Given the description of an element on the screen output the (x, y) to click on. 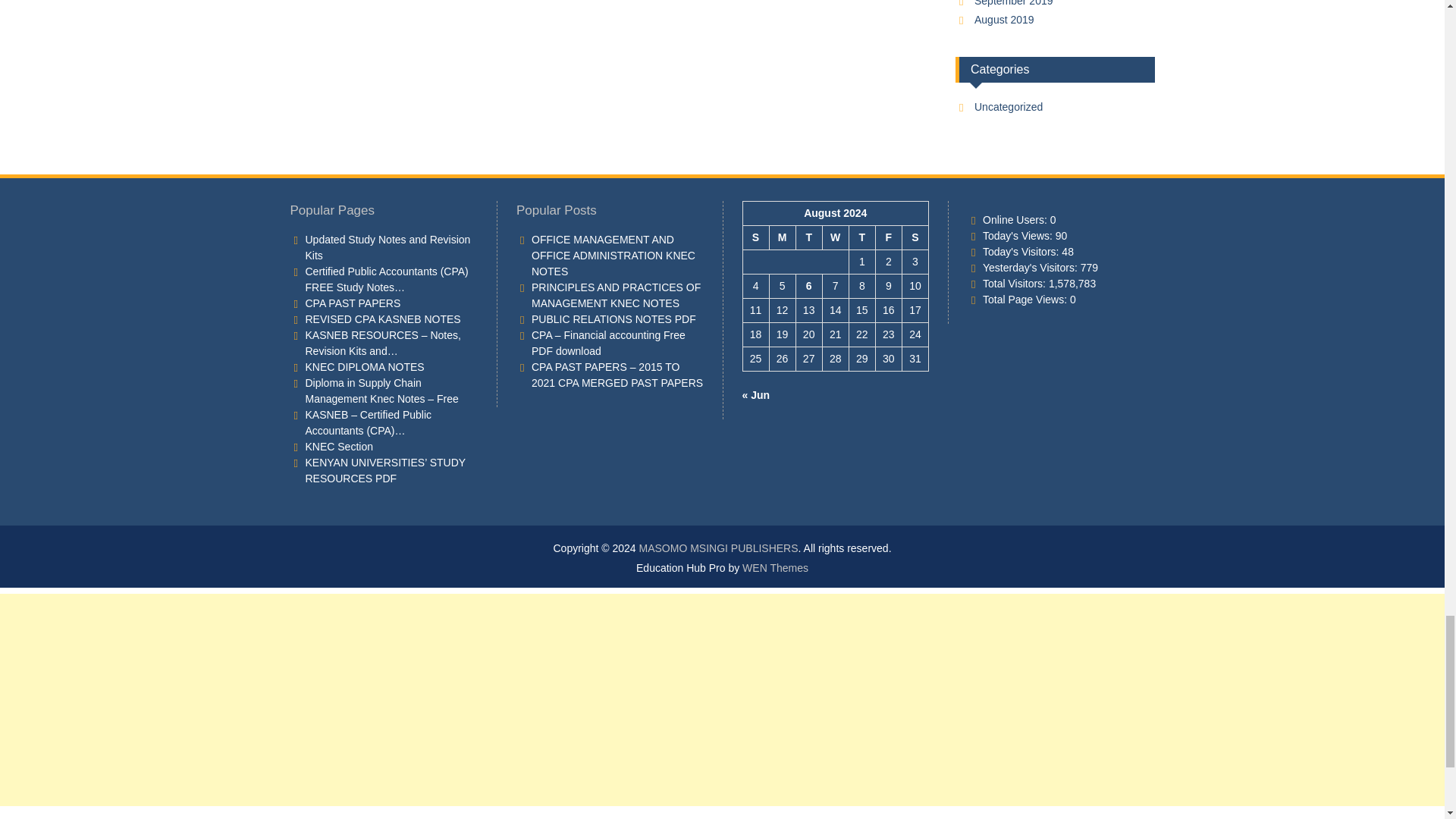
Sunday (755, 238)
Tuesday (808, 238)
Monday (781, 238)
